Given the description of an element on the screen output the (x, y) to click on. 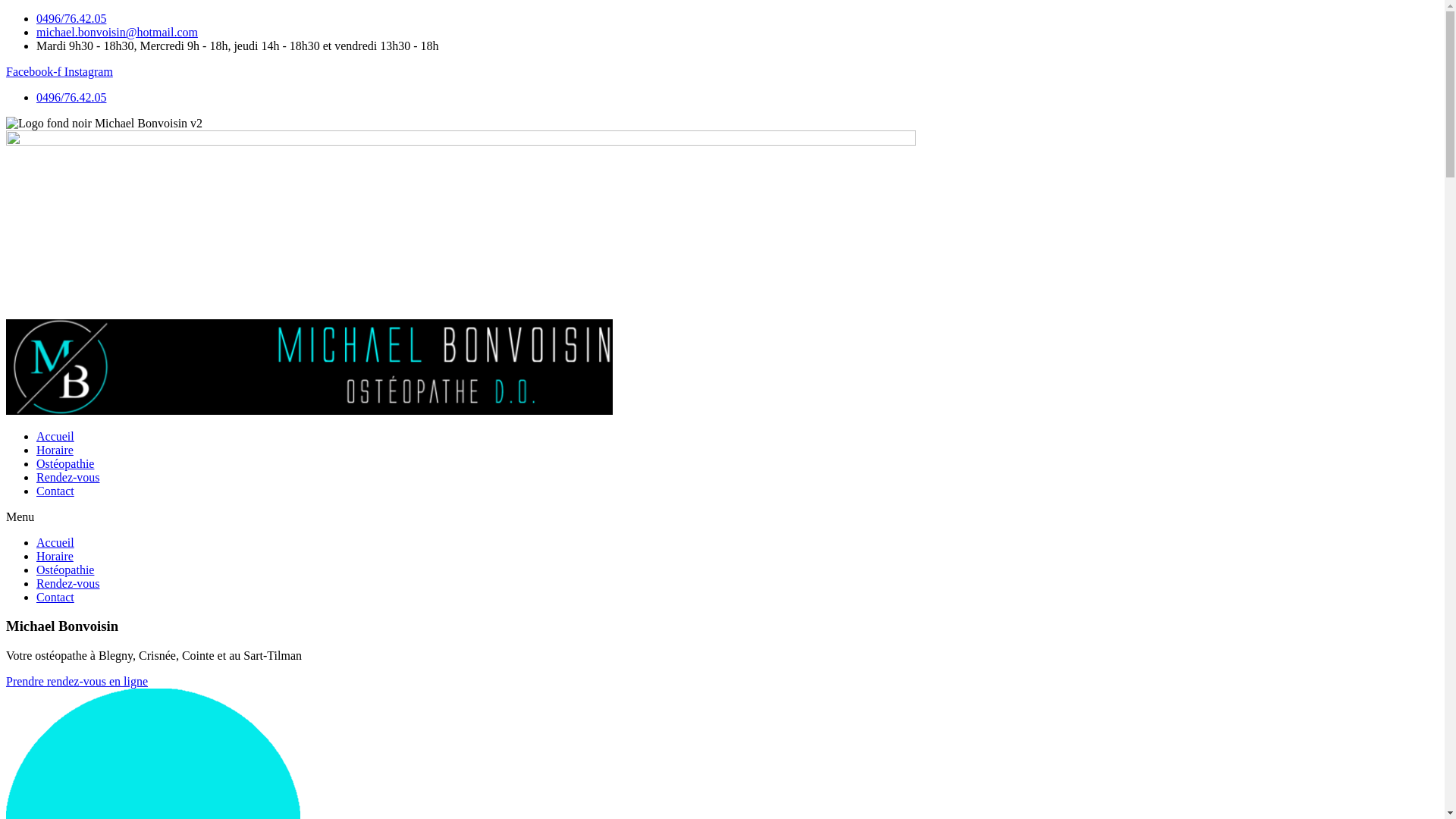
Accueil Element type: text (55, 435)
Contact Element type: text (55, 596)
Accueil Element type: text (55, 542)
Rendez-vous Element type: text (68, 583)
Horaire Element type: text (54, 449)
Rendez-vous Element type: text (68, 476)
Instagram Element type: text (88, 71)
michael.bonvoisin@hotmail.com Element type: text (116, 31)
Contact Element type: text (55, 490)
0496/76.42.05 Element type: text (71, 18)
0496/76.42.05 Element type: text (71, 97)
Horaire Element type: text (54, 555)
Prendre rendez-vous en ligne Element type: text (76, 680)
Aller au contenu Element type: text (5, 11)
Facebook-f Element type: text (35, 71)
